Given the description of an element on the screen output the (x, y) to click on. 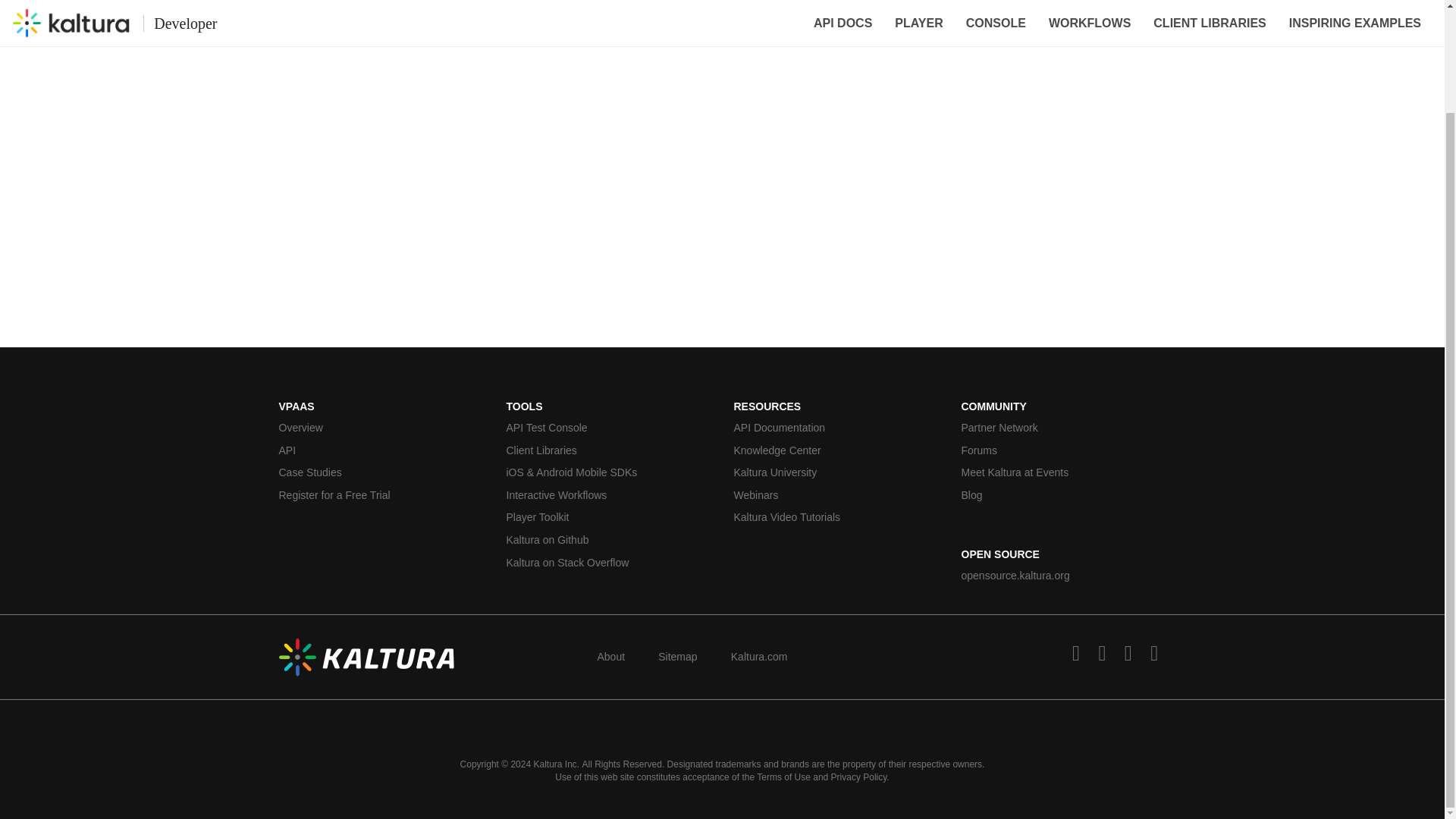
Kaltura University (836, 473)
API Test Console (608, 427)
Overview (381, 427)
Knowledge Center (836, 450)
RESOURCES (767, 406)
Kaltura on Stack Overflow (608, 563)
API Documentation (836, 427)
VPAAS (296, 406)
API (381, 450)
TOOLS (524, 406)
Interactive Workflows (608, 495)
Webinars (836, 495)
Client Libraries (608, 450)
Kaltura on Github (608, 540)
Register for a Free Trial (381, 495)
